Given the description of an element on the screen output the (x, y) to click on. 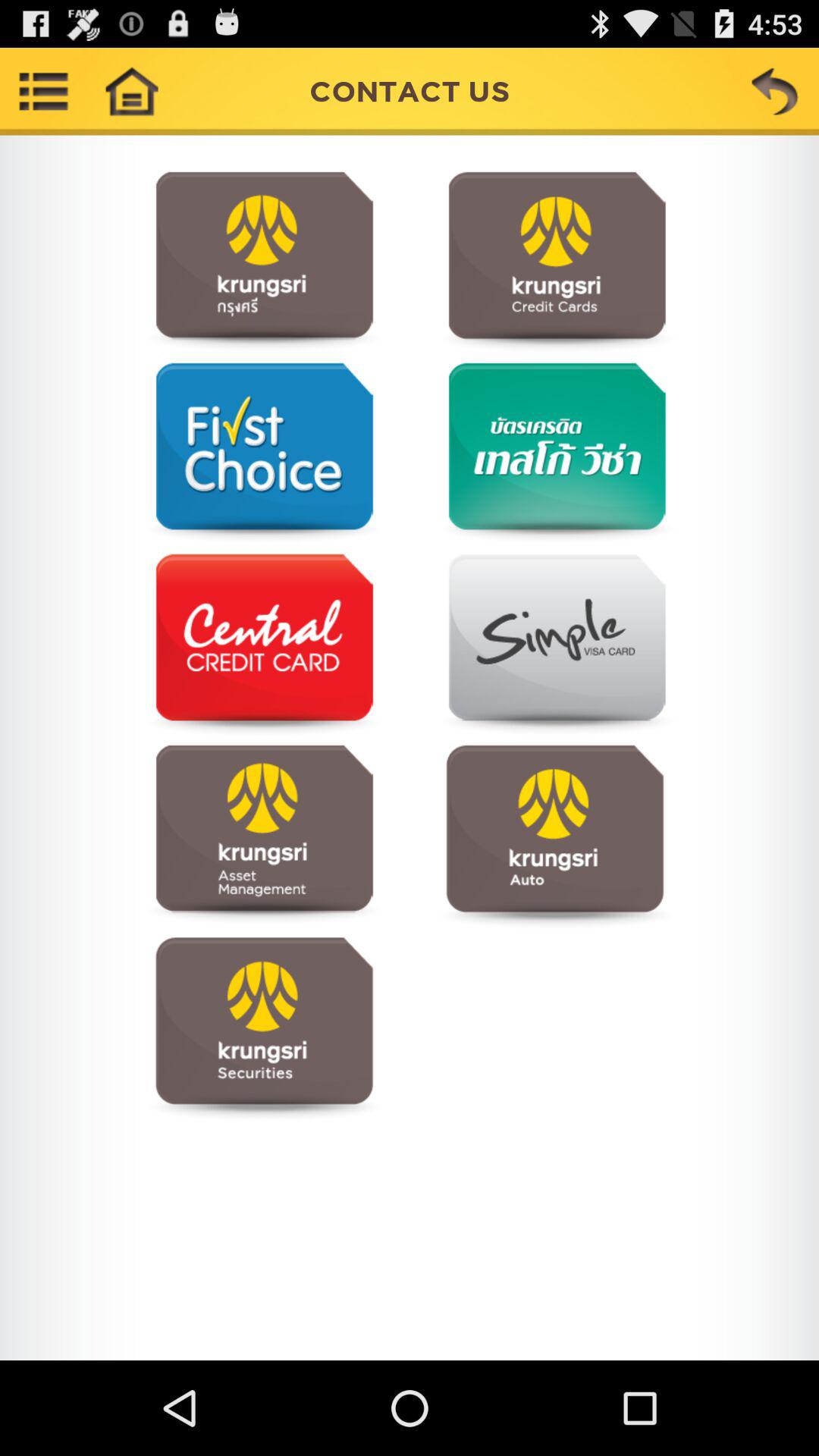
go back (775, 91)
